Given the description of an element on the screen output the (x, y) to click on. 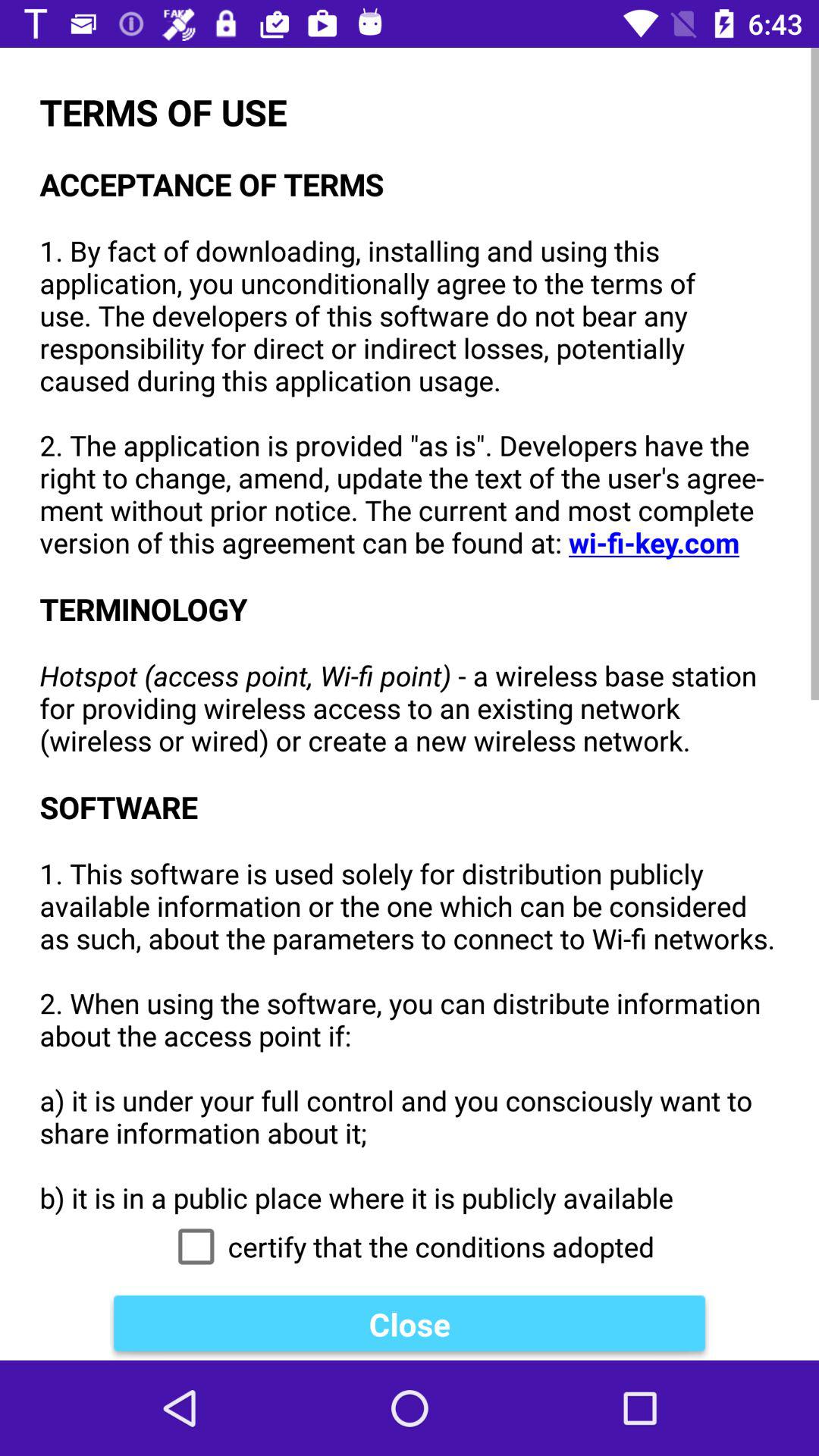
launch the close item (409, 1324)
